Given the description of an element on the screen output the (x, y) to click on. 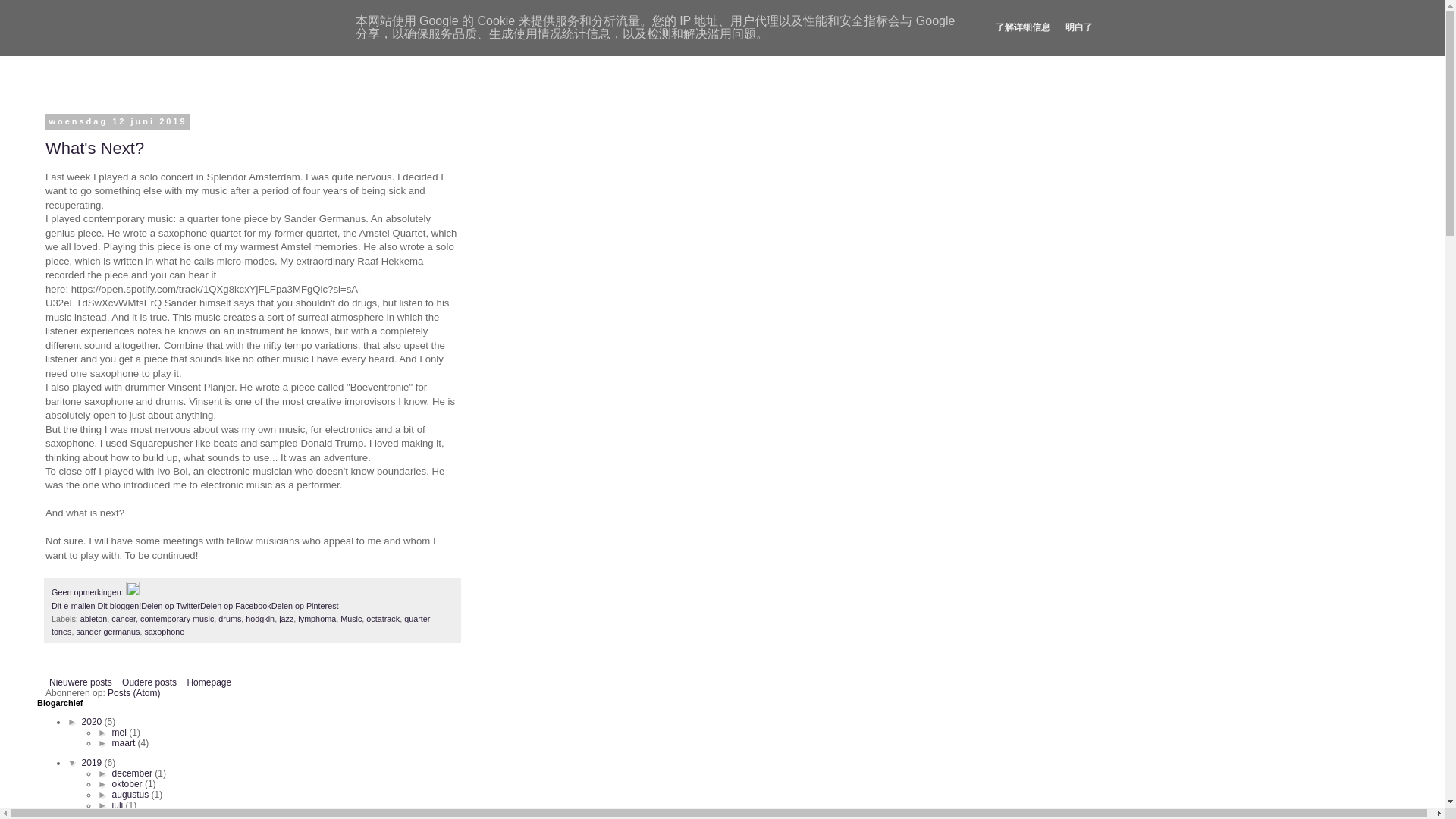
cancer (123, 618)
Delen op Pinterest (304, 605)
jazz (286, 618)
maart (125, 742)
Homepage (208, 682)
augustus (131, 794)
Nieuwere posts (80, 682)
2020 (92, 721)
octatrack (382, 618)
Nieuwere posts (80, 682)
Geen opmerkingen: (87, 592)
saxophone (164, 631)
Oudere posts (148, 682)
sander germanus (107, 631)
Delen op Twitter (170, 605)
